Given the description of an element on the screen output the (x, y) to click on. 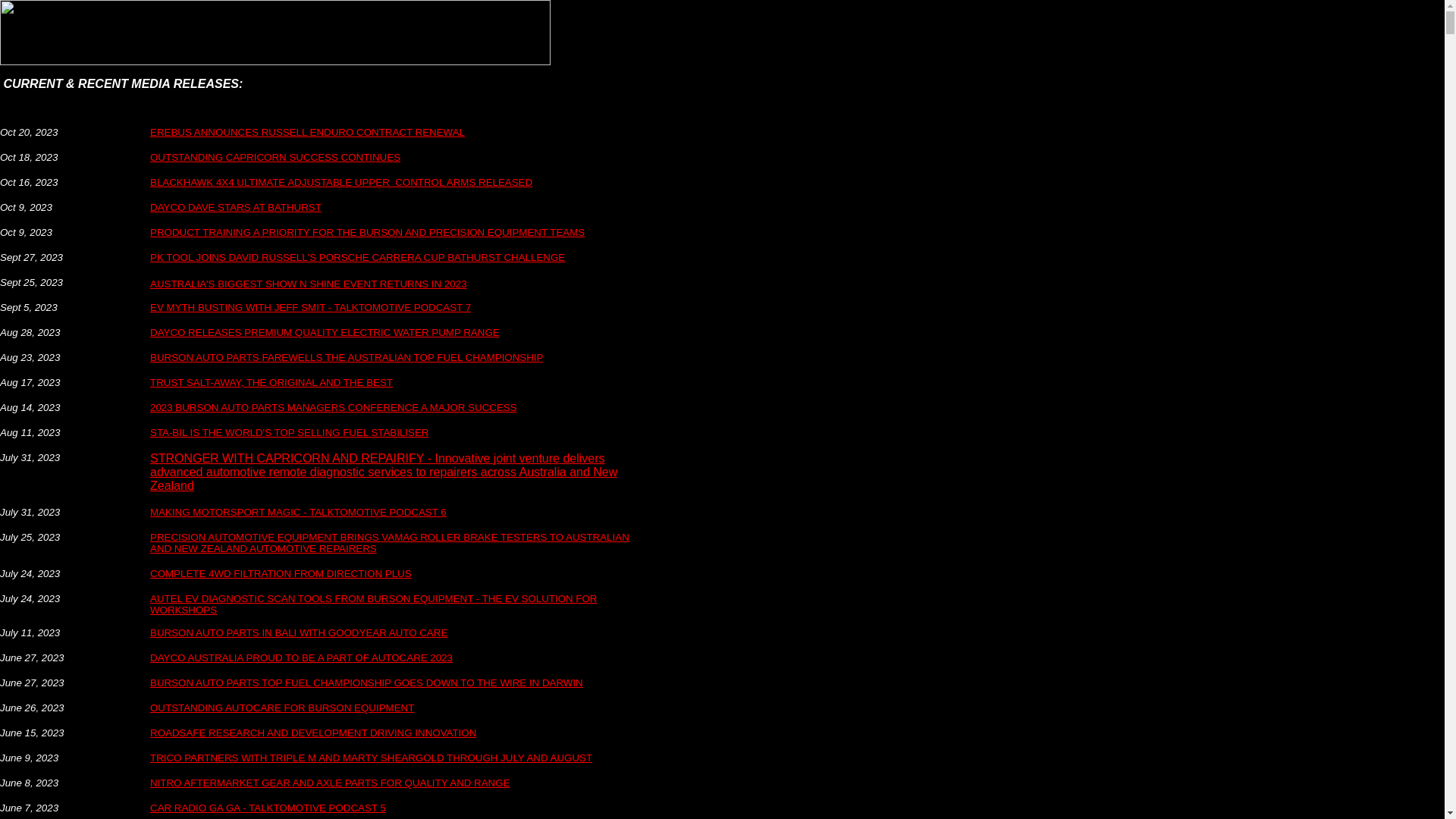
DAYCO RELEASES PREMIUM QUALITY ELECTRIC WATER PUMP RANGE Element type: text (324, 331)
ROADSAFE RESEARCH AND DEVELOPMENT DRIVING INNOVATION Element type: text (313, 738)
DAYCO DAVE STARS AT BATHURST Element type: text (235, 207)
STA-BIL IS THE WORLD'S TOP SELLING FUEL STABILISER Element type: text (289, 431)
EREBUS ANNOUNCES RUSSELL ENDURO CONTRACT RENEWAL Element type: text (307, 131)
DAYCO AUSTRALIA PROUD TO BE A PART OF AUTOCARE 2023 Element type: text (301, 656)
NITRO AFTERMARKET GEAR AND AXLE PARTS FOR QUALITY AND RANGE Element type: text (330, 781)
COMPLETE 4WD FILTRATION FROM DIRECTION PLUS Element type: text (280, 572)
AUSTRALIA'S BIGGEST SHOW N SHINE EVENT RETURNS IN 2023 Element type: text (308, 282)
CAR RADIO GA GA - TALKTOMOTIVE PODCAST 5 Element type: text (267, 806)
OUTSTANDING AUTOCARE FOR BURSON EQUIPMENT Element type: text (282, 706)
OUTSTANDING CAPRICORN SUCCESS CONTINUES Element type: text (275, 156)
2023 BURSON AUTO PARTS MANAGERS CONFERENCE A MAJOR SUCCESS Element type: text (333, 406)
MAKING MOTORSPORT MAGIC - TALKTOMOTIVE PODCAST 6 Element type: text (298, 511)
BURSON AUTO PARTS IN BALI WITH GOODYEAR AUTO CARE Element type: text (298, 631)
EV MYTH BUSTING WITH JEFF SMIT - TALKTOMOTIVE PODCAST 7 Element type: text (310, 306)
TRUST SALT-AWAY, THE ORIGINAL AND THE BEST Element type: text (271, 381)
